Given the description of an element on the screen output the (x, y) to click on. 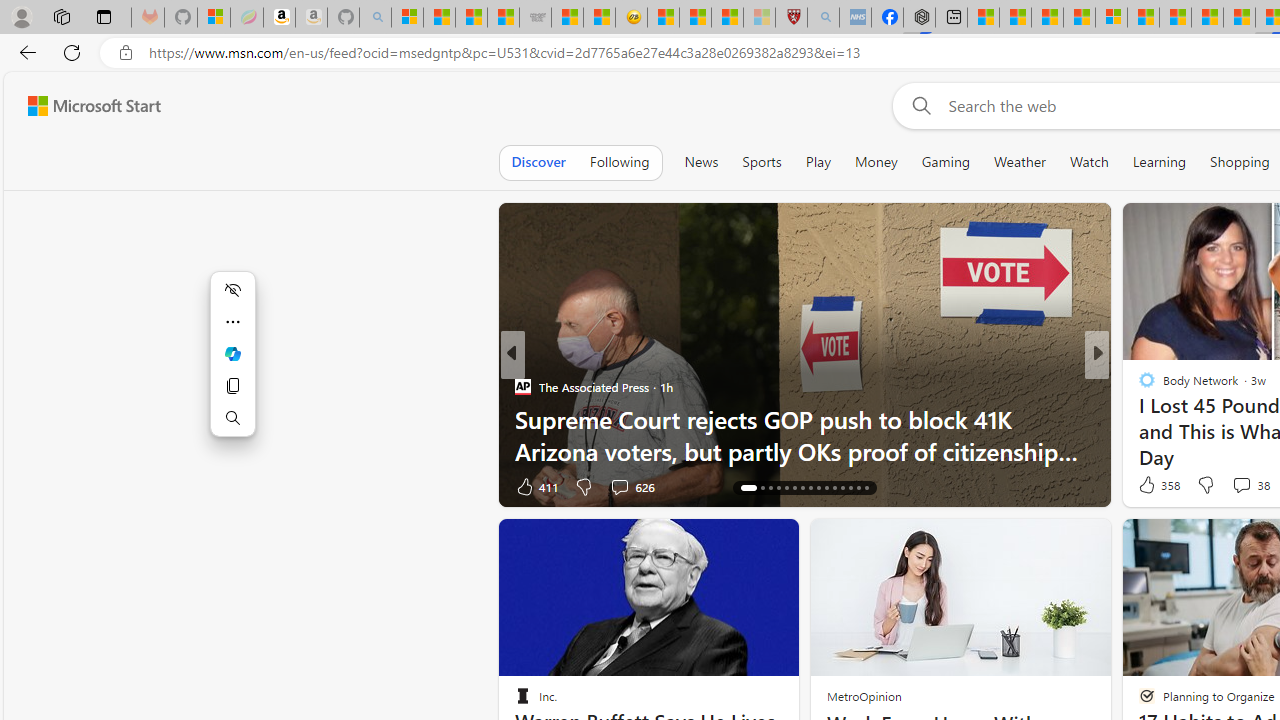
AutomationID: tab-29 (857, 487)
12 Popular Science Lies that Must be Corrected - Sleeping (758, 17)
The Associated Press (522, 386)
AutomationID: tab-24 (818, 487)
Deseret News (1138, 418)
604 Like (1151, 486)
View comments 38 Comment (1249, 484)
33 Like (1149, 486)
Moneywise (1138, 386)
